Given the description of an element on the screen output the (x, y) to click on. 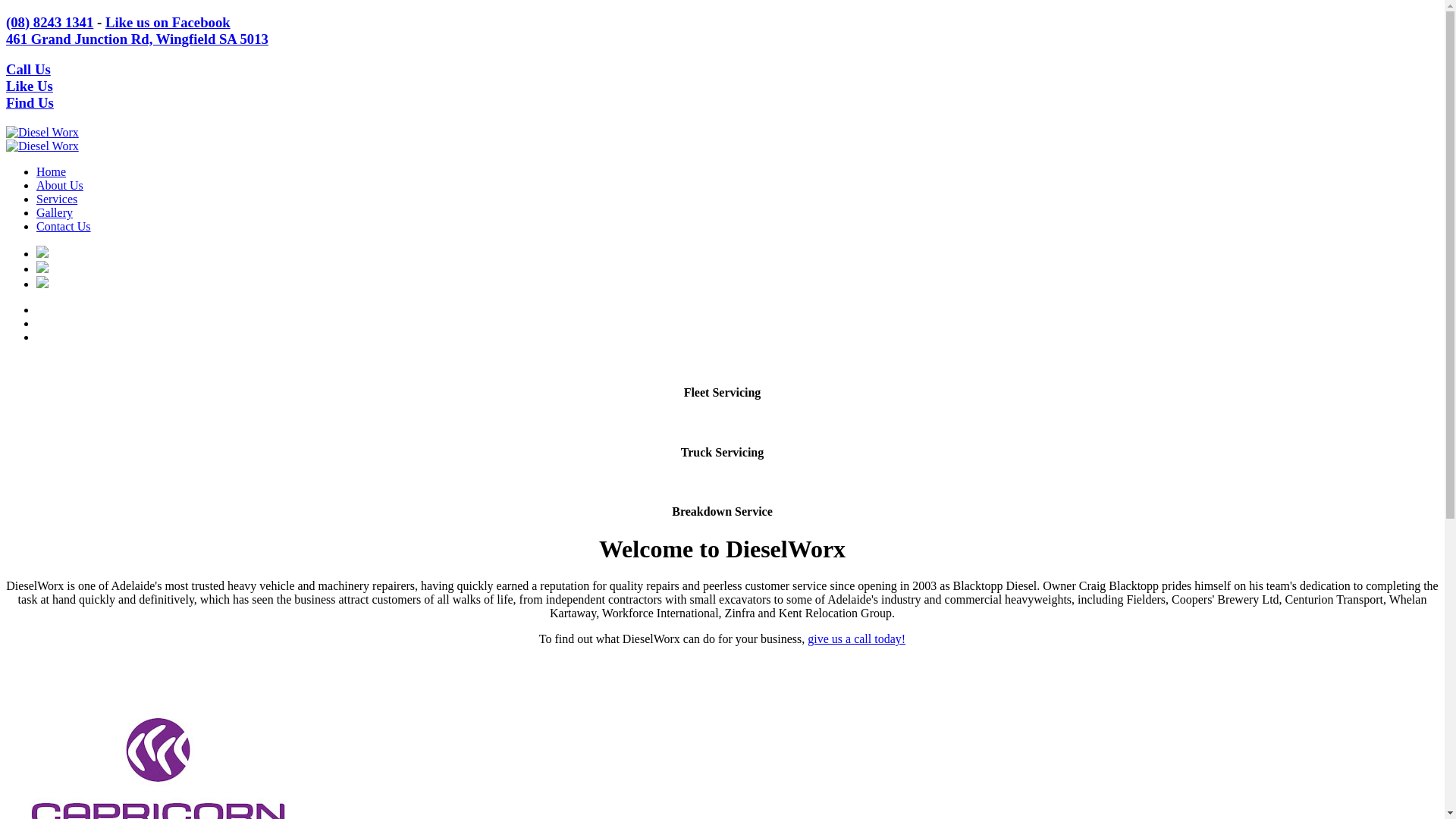
give us a call today! Element type: text (856, 638)
Diesel Worx Element type: hover (42, 145)
(08) 8243 1341 Element type: text (49, 22)
Diesel Worx Element type: hover (42, 131)
Call Us Element type: text (28, 69)
About Us Element type: text (59, 184)
Like Us Element type: text (29, 86)
461 Grand Junction Rd, Wingfield SA 5013 Element type: text (137, 39)
Contact Us Element type: text (63, 225)
Home Element type: text (50, 171)
Services Element type: text (56, 198)
Gallery Element type: text (54, 212)
Find Us Element type: text (29, 102)
Like us on Facebook Element type: text (167, 22)
